Given the description of an element on the screen output the (x, y) to click on. 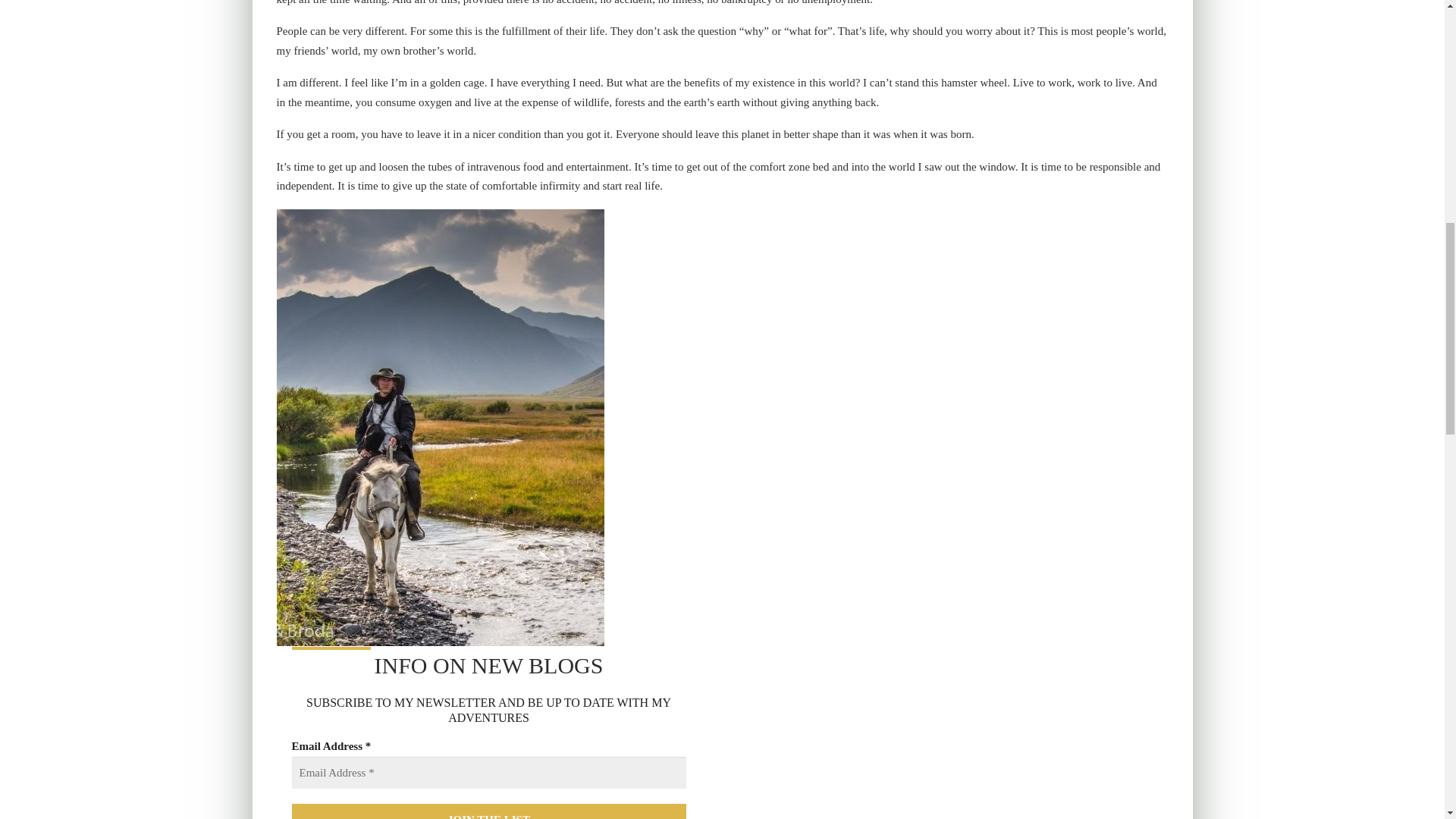
Email Address (488, 772)
JOIN THE LIST (488, 811)
JOIN THE LIST (488, 811)
